Given the description of an element on the screen output the (x, y) to click on. 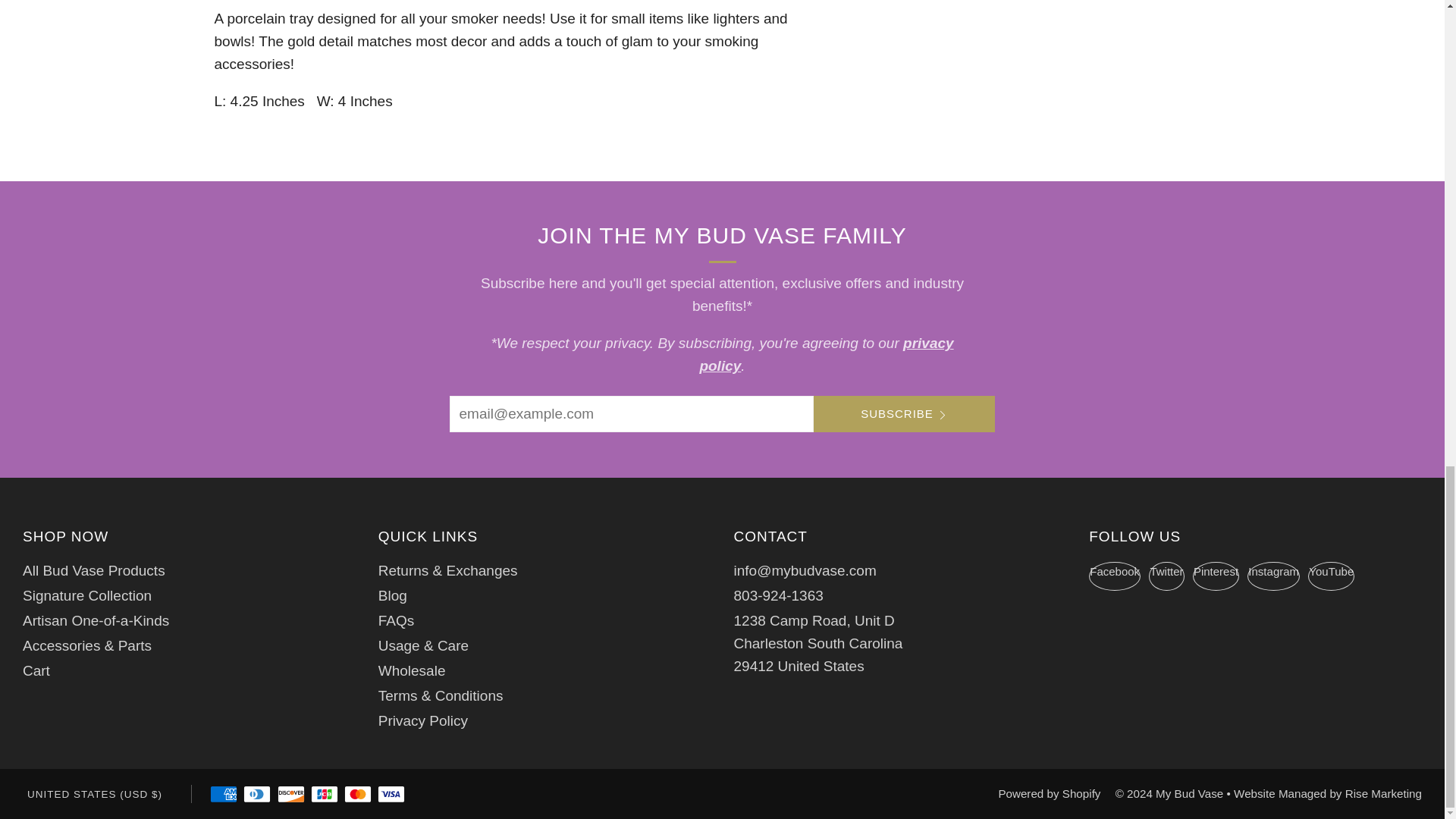
Diners Club (256, 794)
American Express (223, 794)
Mastercard (357, 794)
JCB (324, 794)
Discover (291, 794)
Visa (390, 794)
